Given the description of an element on the screen output the (x, y) to click on. 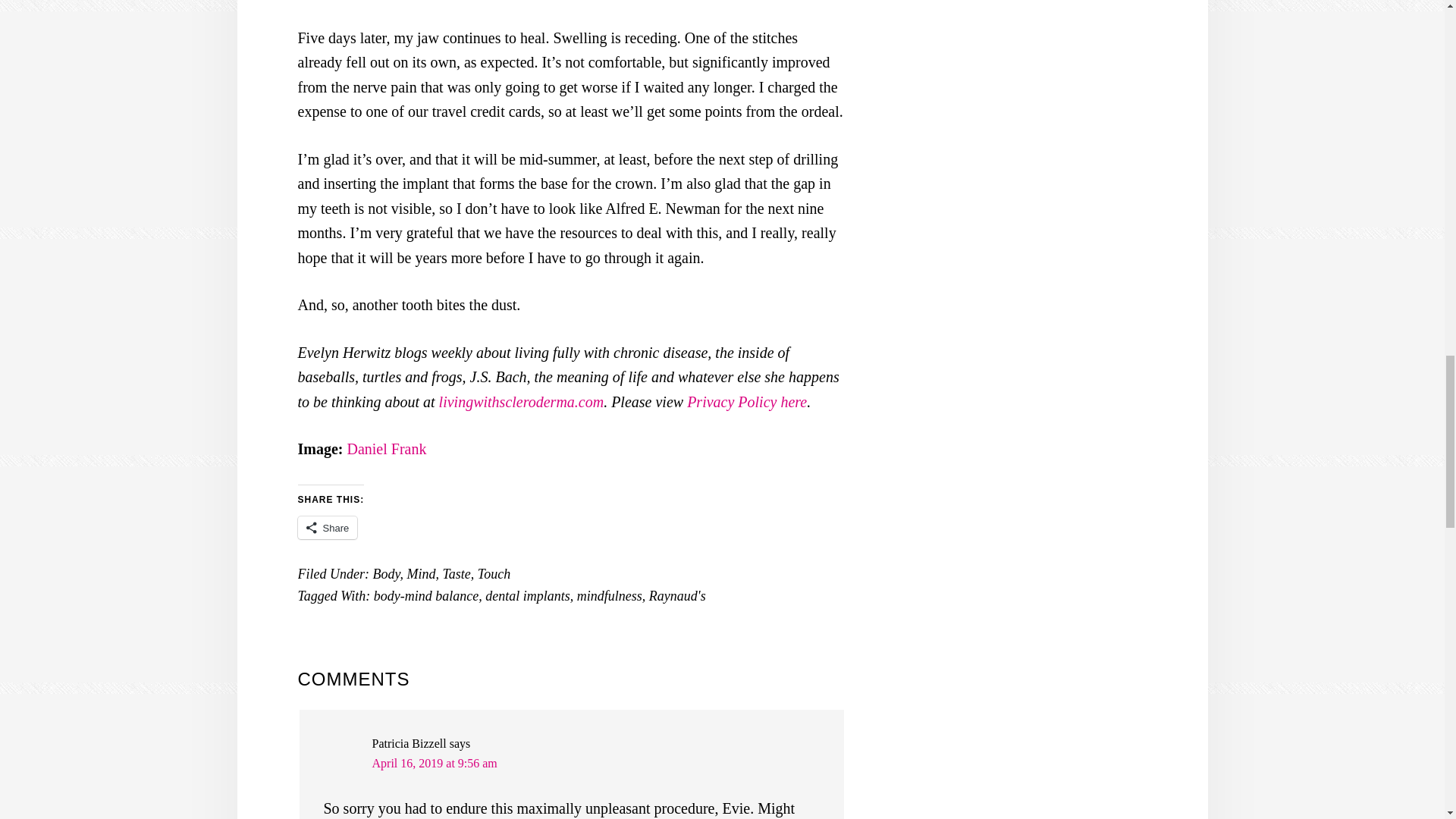
Mind (420, 573)
Daniel Frank (386, 448)
body-mind balance (426, 595)
Privacy Policy here (746, 401)
Body (385, 573)
Taste (456, 573)
Share (326, 527)
livingwithscleroderma.com (521, 401)
Touch (494, 573)
